Given the description of an element on the screen output the (x, y) to click on. 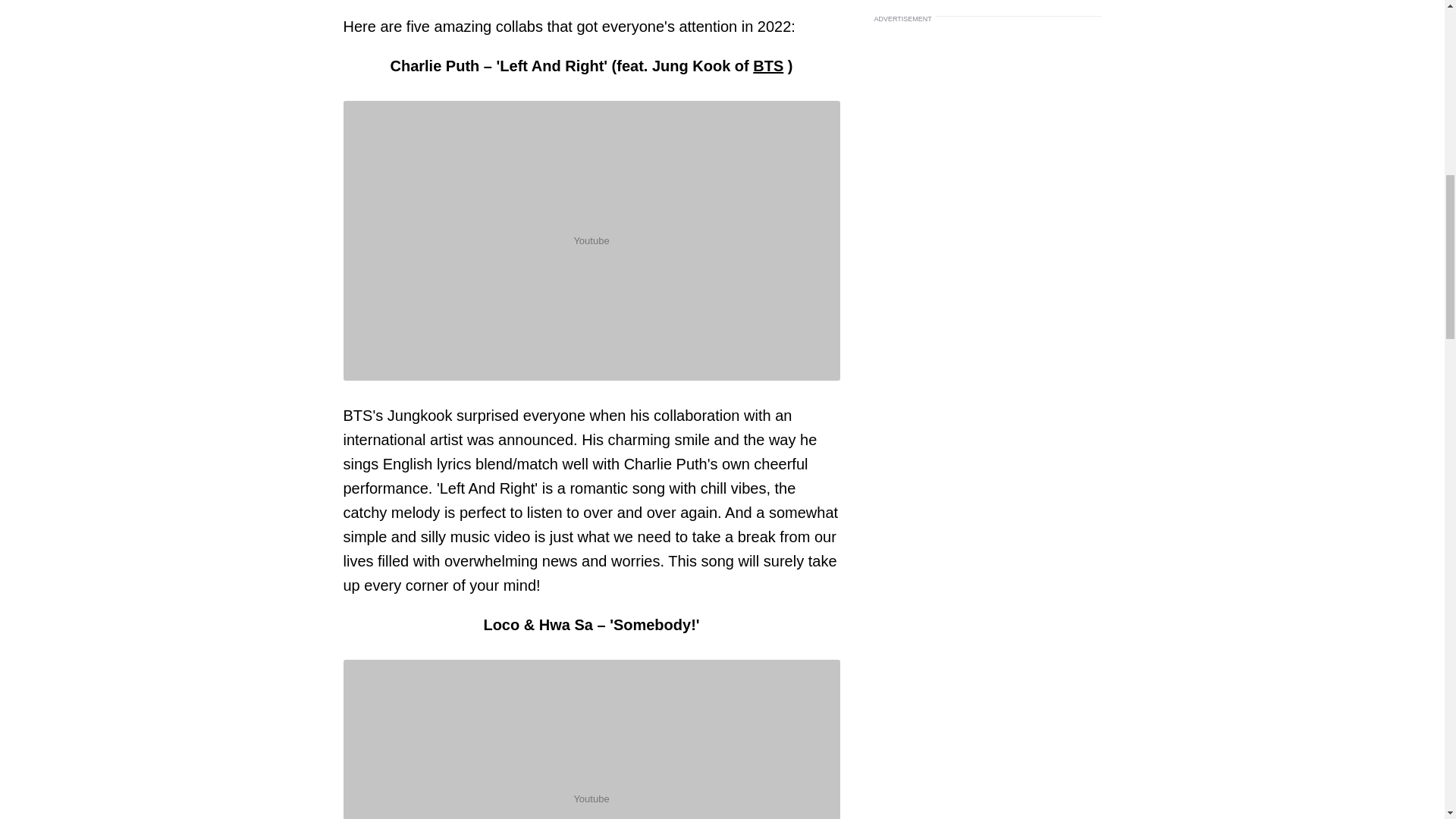
BTS (767, 65)
